Given the description of an element on the screen output the (x, y) to click on. 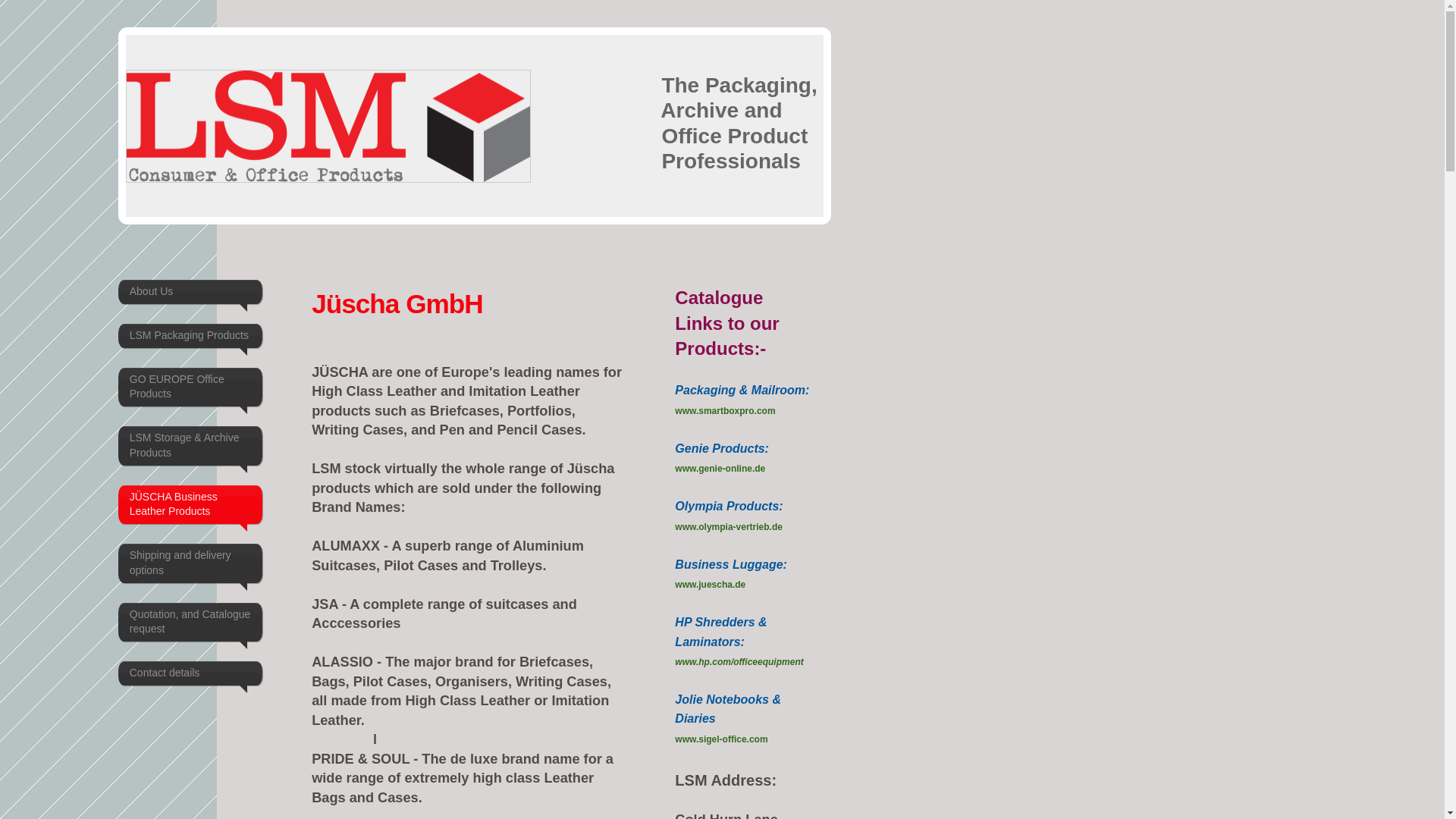
Shipping and delivery options (189, 562)
Quotation, and Catalogue request (189, 621)
GO EUROPE Office Products (189, 386)
LSM Packaging Products (189, 335)
About Us (189, 291)
Contact details (189, 672)
